Given the description of an element on the screen output the (x, y) to click on. 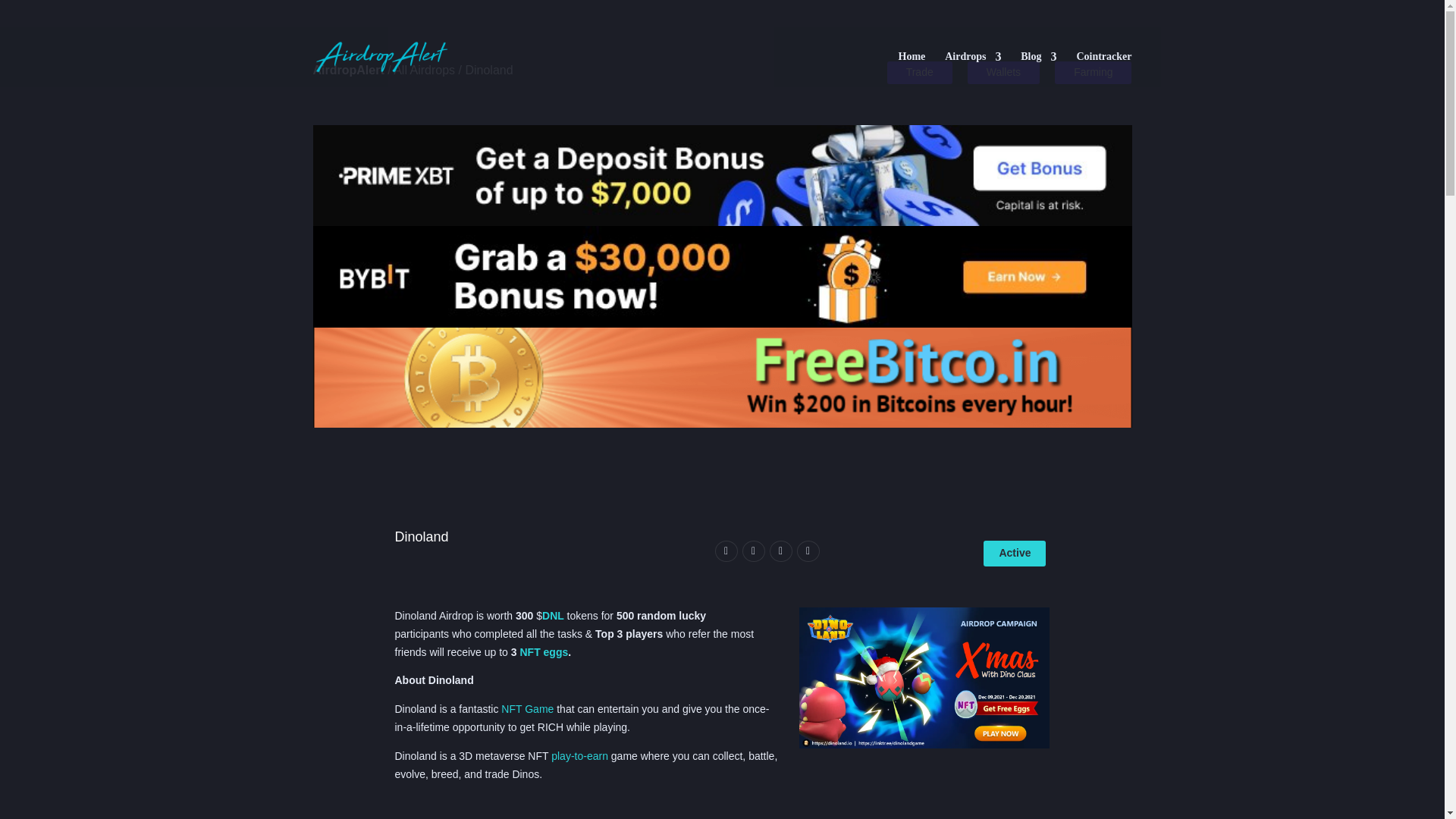
Wallets (1003, 72)
DNL (552, 615)
Cointracker (1103, 68)
All Airdrops (423, 69)
Blast-Mainnet5555 (924, 677)
NFT eggs (543, 652)
AirdropAlert (348, 69)
Blog (1038, 68)
Trade (919, 72)
Farming (1092, 72)
NFT Game (526, 708)
play-to-earn (579, 756)
Airdrops (972, 68)
